Given the description of an element on the screen output the (x, y) to click on. 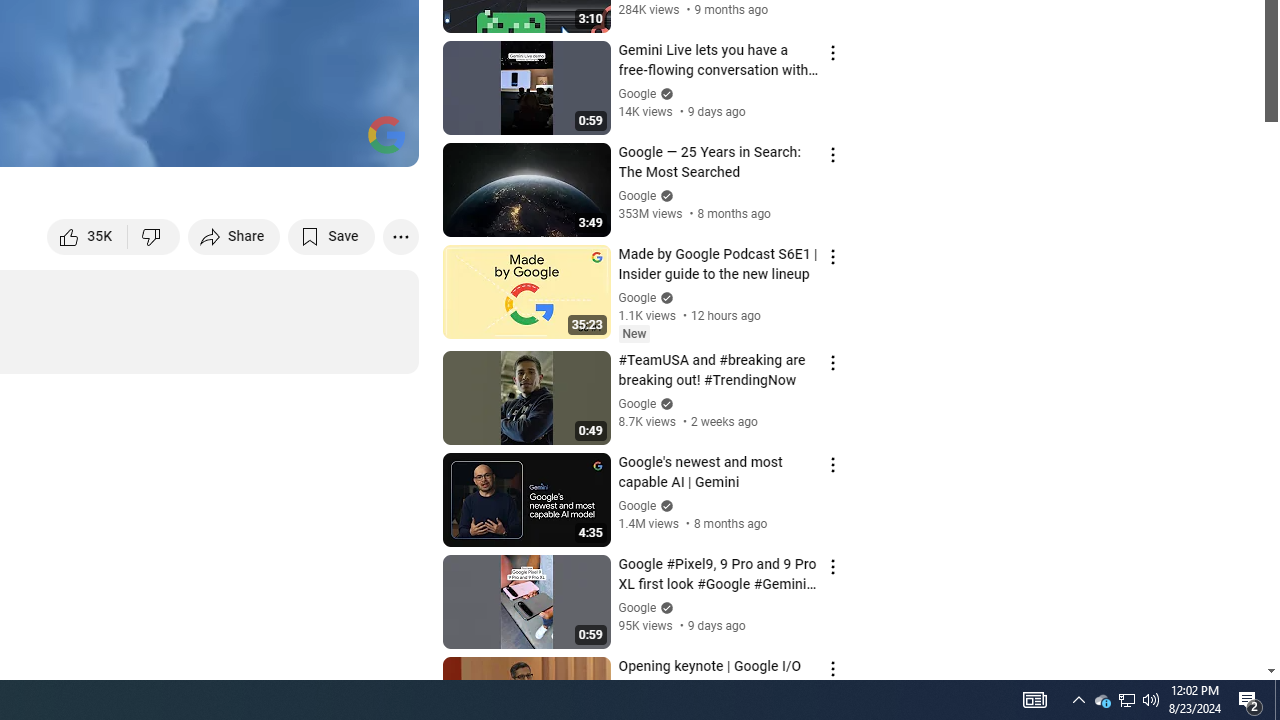
like this video along with 35,367 other people (88, 236)
Channel watermark (386, 134)
Share (234, 236)
Autoplay is on (141, 142)
New (634, 333)
Theater mode (t) (333, 142)
More actions (399, 236)
Verified (664, 606)
Full screen (f) (382, 142)
Subtitles/closed captions unavailable (190, 142)
Save to playlist (331, 236)
